Given the description of an element on the screen output the (x, y) to click on. 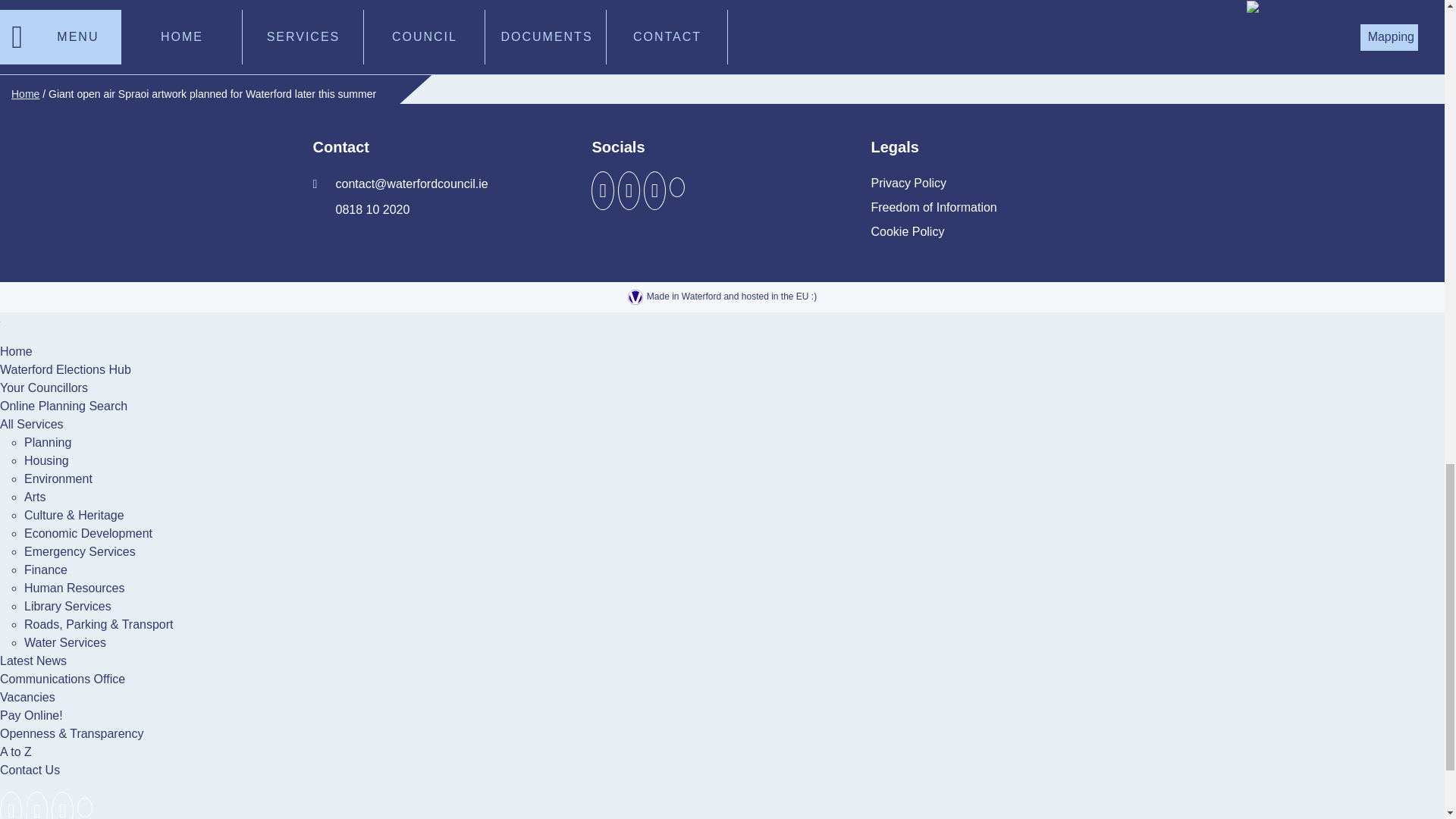
Cookie Policy (906, 232)
Freedom of Information (932, 207)
Privacy Policy (908, 183)
0818 10 2020 (361, 209)
